Given the description of an element on the screen output the (x, y) to click on. 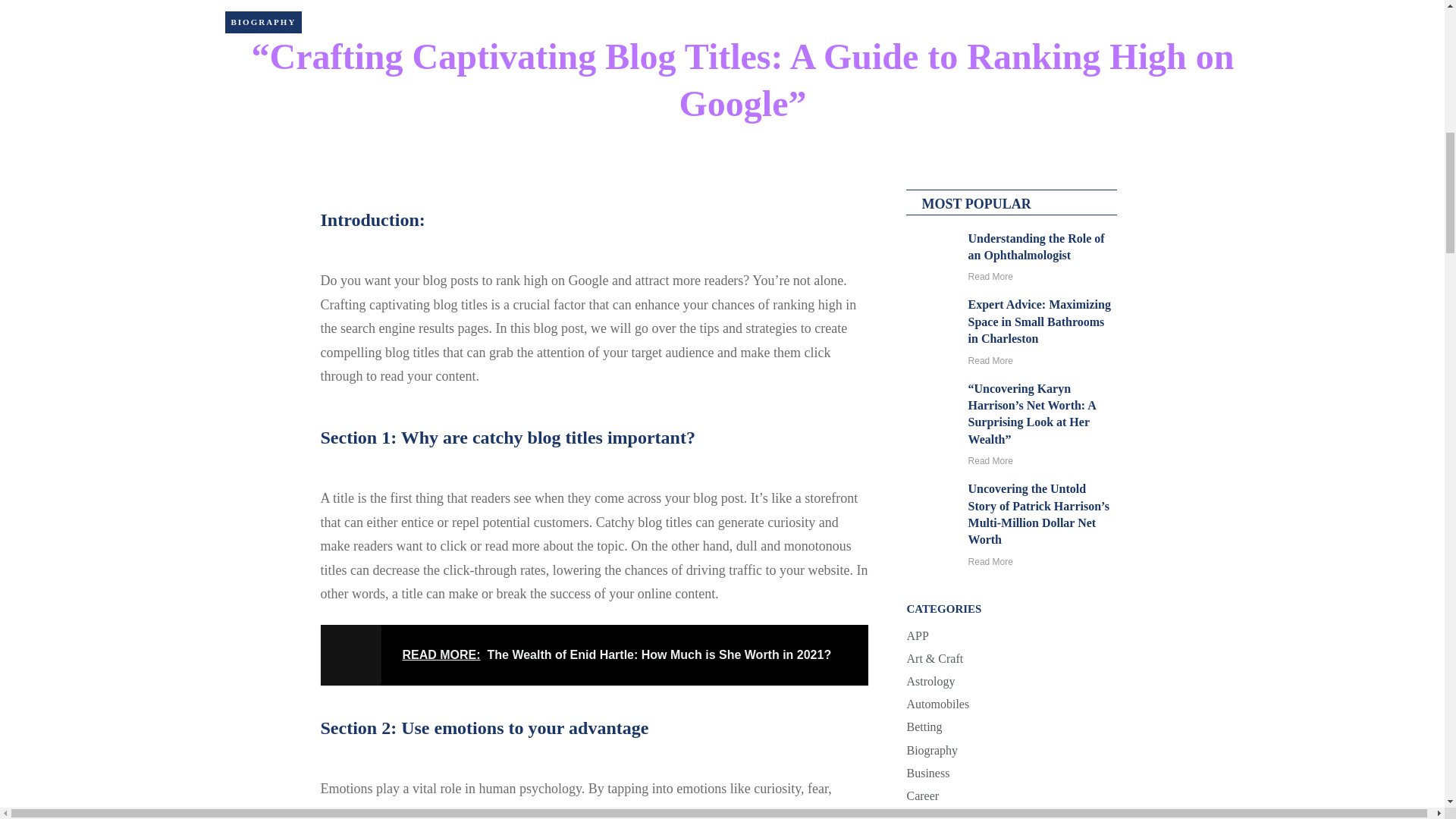
Understanding the Role of an Ophthalmologist (1036, 246)
Biography (262, 21)
BIOGRAPHY (262, 21)
